Given the description of an element on the screen output the (x, y) to click on. 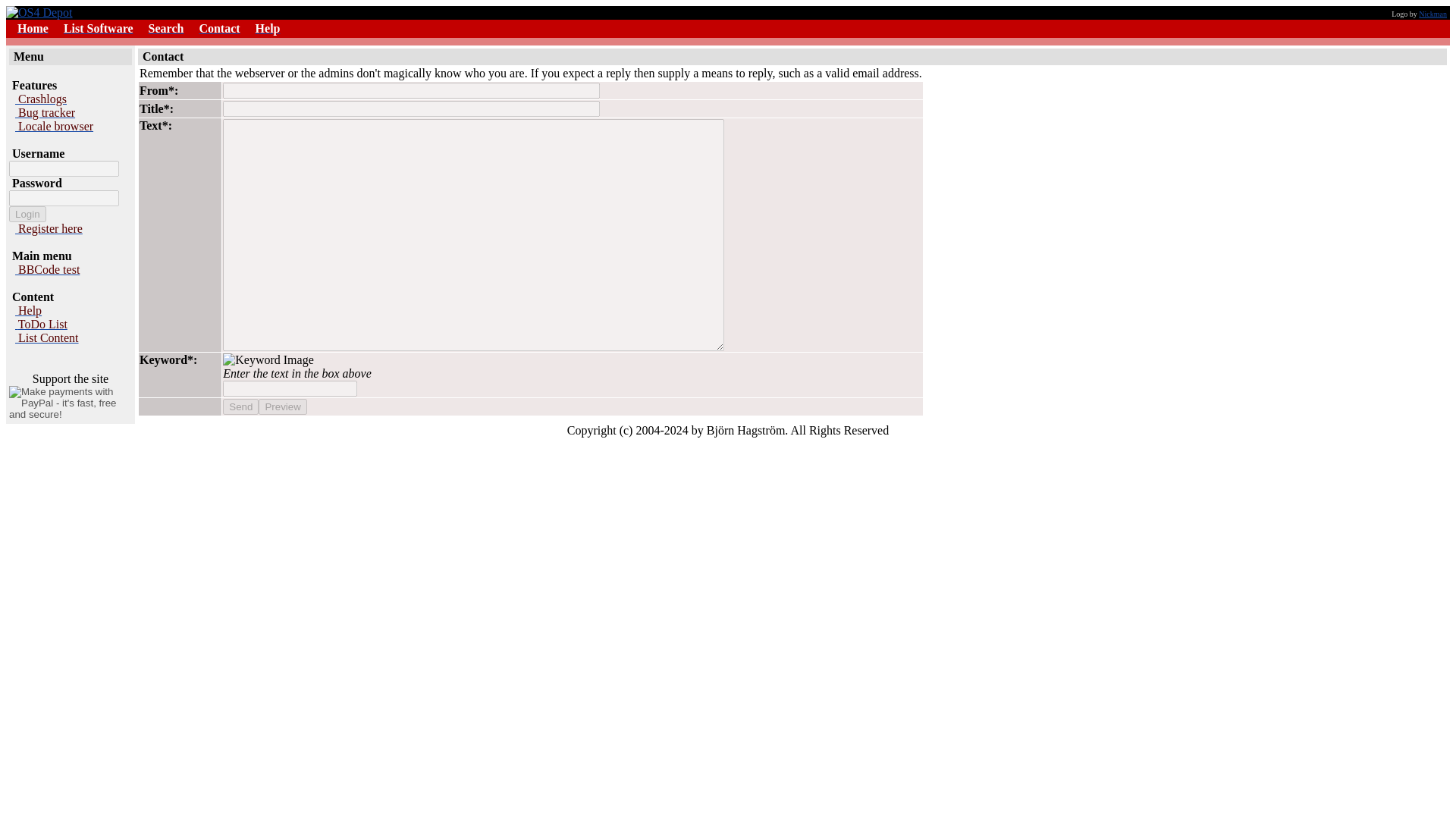
 Crashlogs (40, 98)
Send (240, 406)
 Bug tracker (44, 112)
 Register here (48, 228)
Search (166, 28)
Contact (219, 28)
 BBCode test (47, 269)
 Locale browser (53, 125)
Help (268, 28)
 ToDo List (40, 323)
Preview (282, 406)
List Software (98, 28)
 Help (28, 309)
 List Content (46, 337)
Home (32, 28)
